Given the description of an element on the screen output the (x, y) to click on. 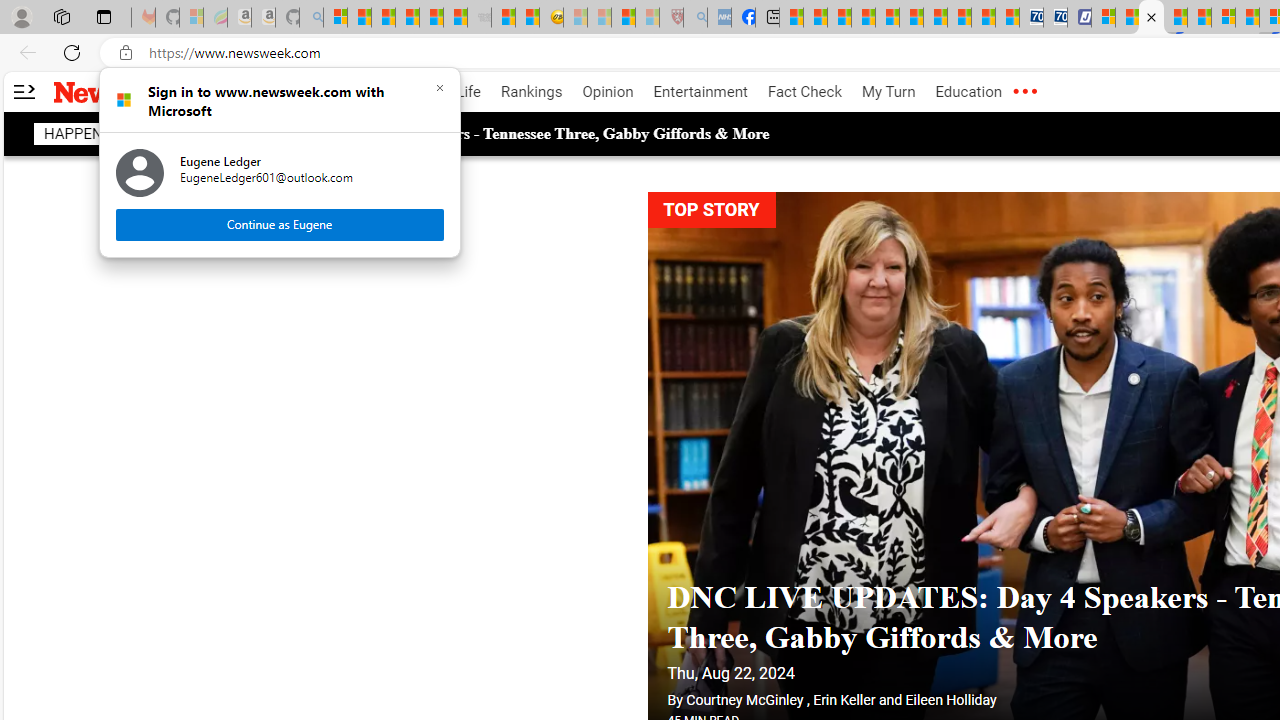
Rankings (532, 92)
By Courtney McGinley (734, 700)
My Turn (888, 92)
Combat Siege - Sleeping (479, 17)
Education (968, 92)
Eileen Holliday (950, 700)
